Given the description of an element on the screen output the (x, y) to click on. 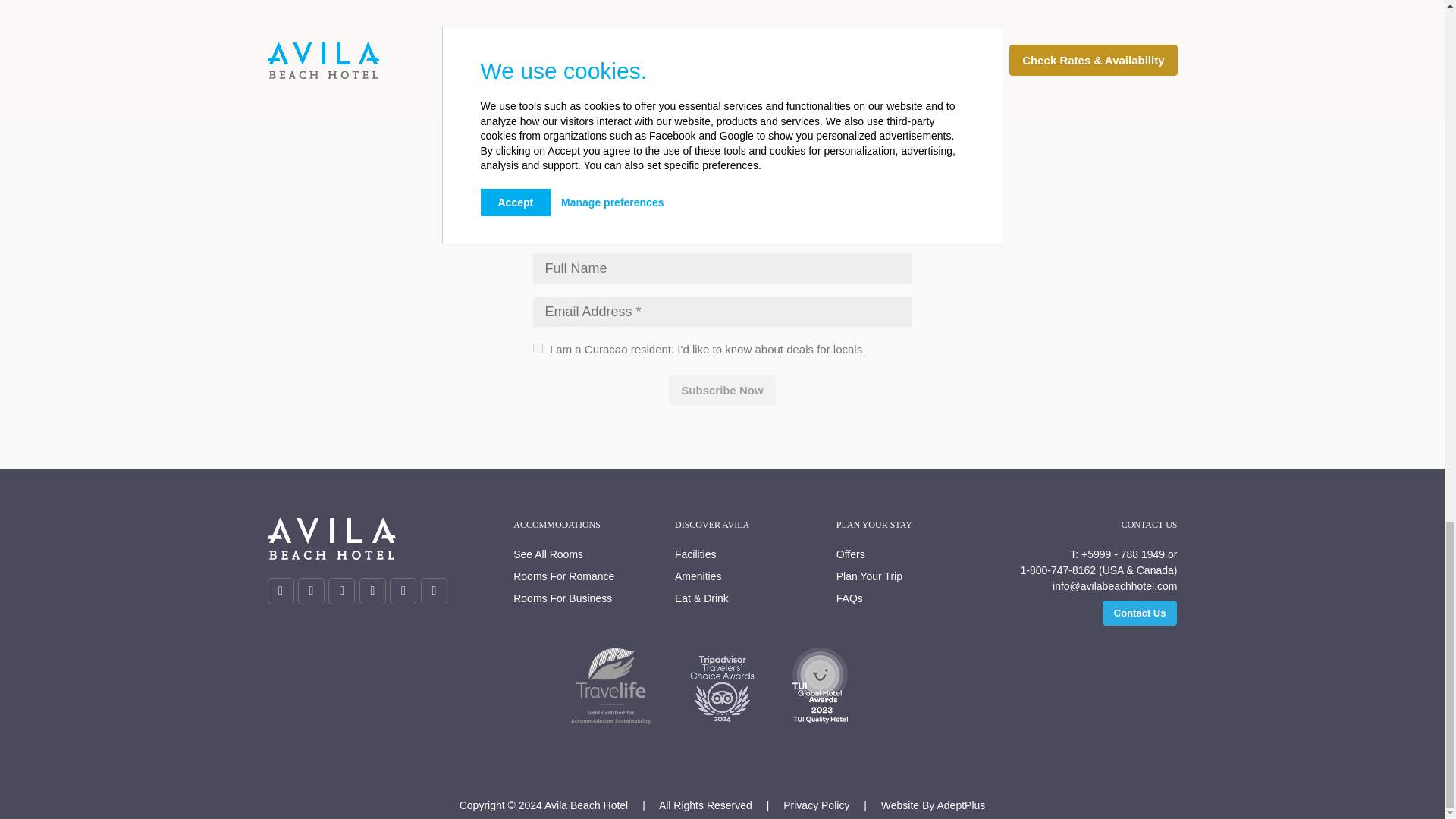
Subscribe Now (721, 389)
YouTube (403, 591)
Instagram (311, 591)
LinkedIn (372, 591)
Pinterest (433, 591)
A Comprehensive Guide of all Flights to Curacao (421, 11)
5 Reasons to try off season traveling to Curacao (721, 34)
5 Reasons to try off season traveling to Curacao (722, 11)
Facebook (342, 591)
A Comprehensive Guide of all Flights to Curacao (421, 34)
WhatsApp (280, 591)
